Given the description of an element on the screen output the (x, y) to click on. 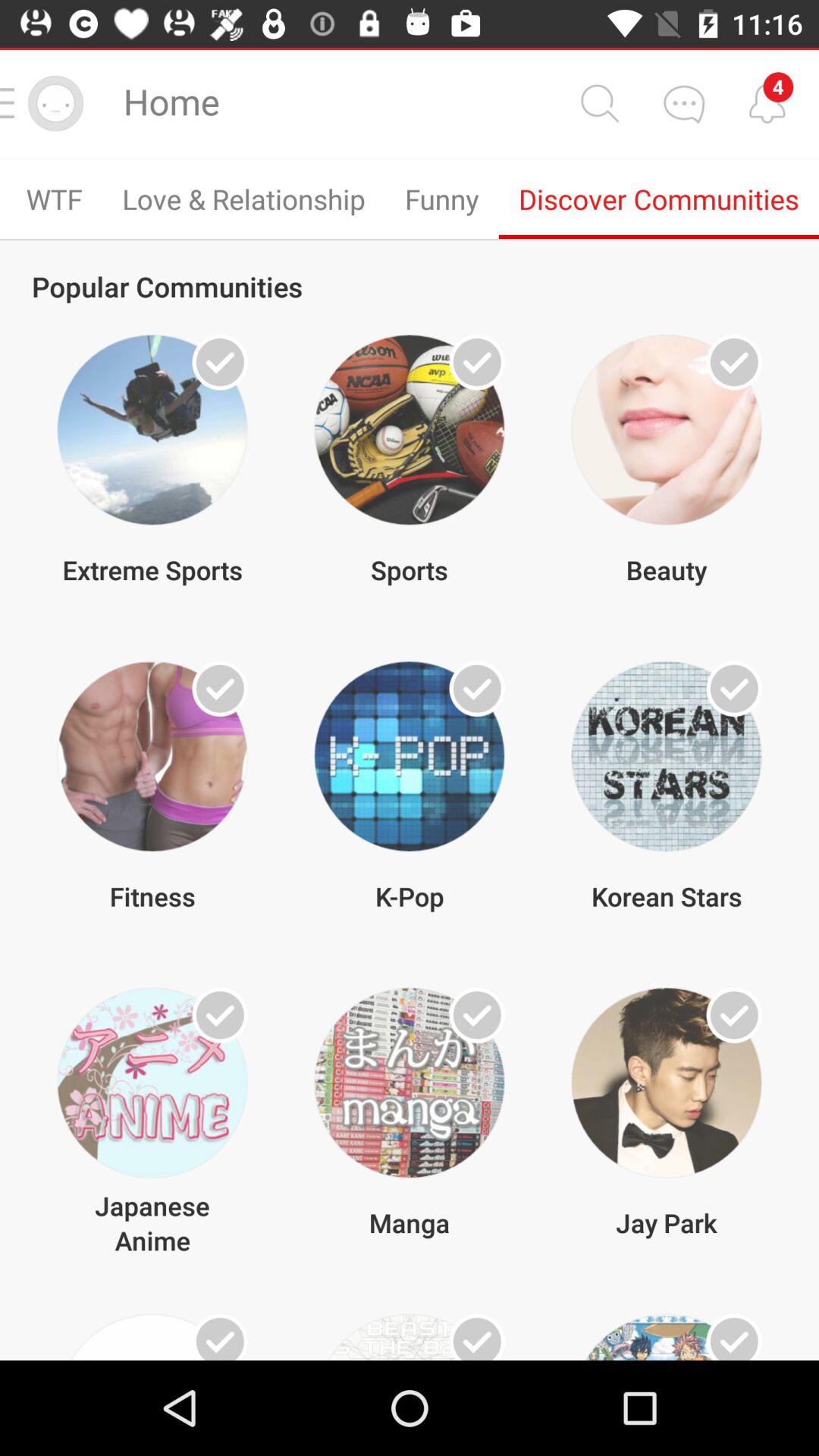
choose the option (734, 1015)
